Given the description of an element on the screen output the (x, y) to click on. 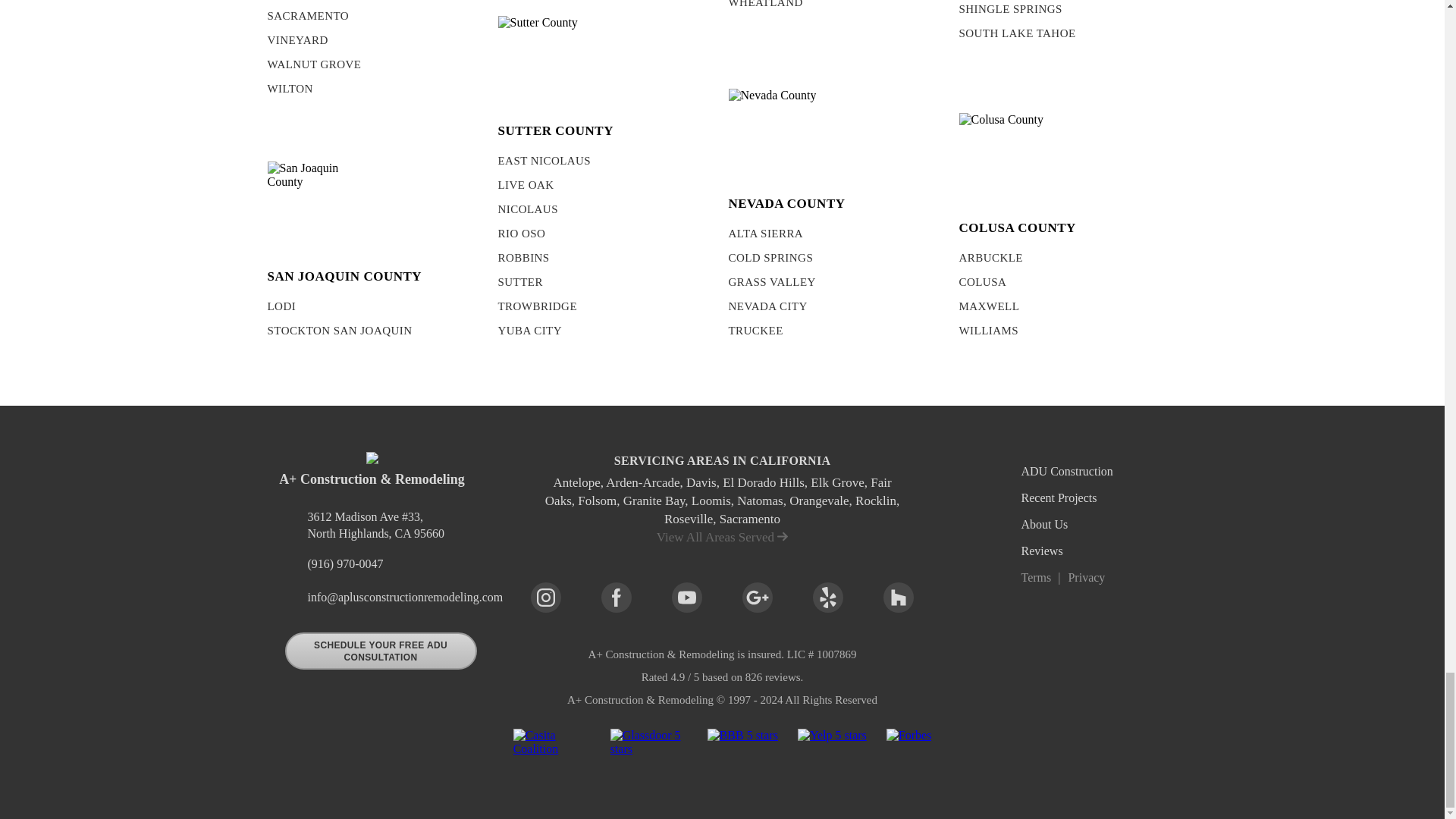
Casita Coalition rating (552, 747)
Forbes (908, 747)
BBB rating (742, 747)
Yelp rating (831, 747)
Glassdoor rating (648, 747)
